Given the description of an element on the screen output the (x, y) to click on. 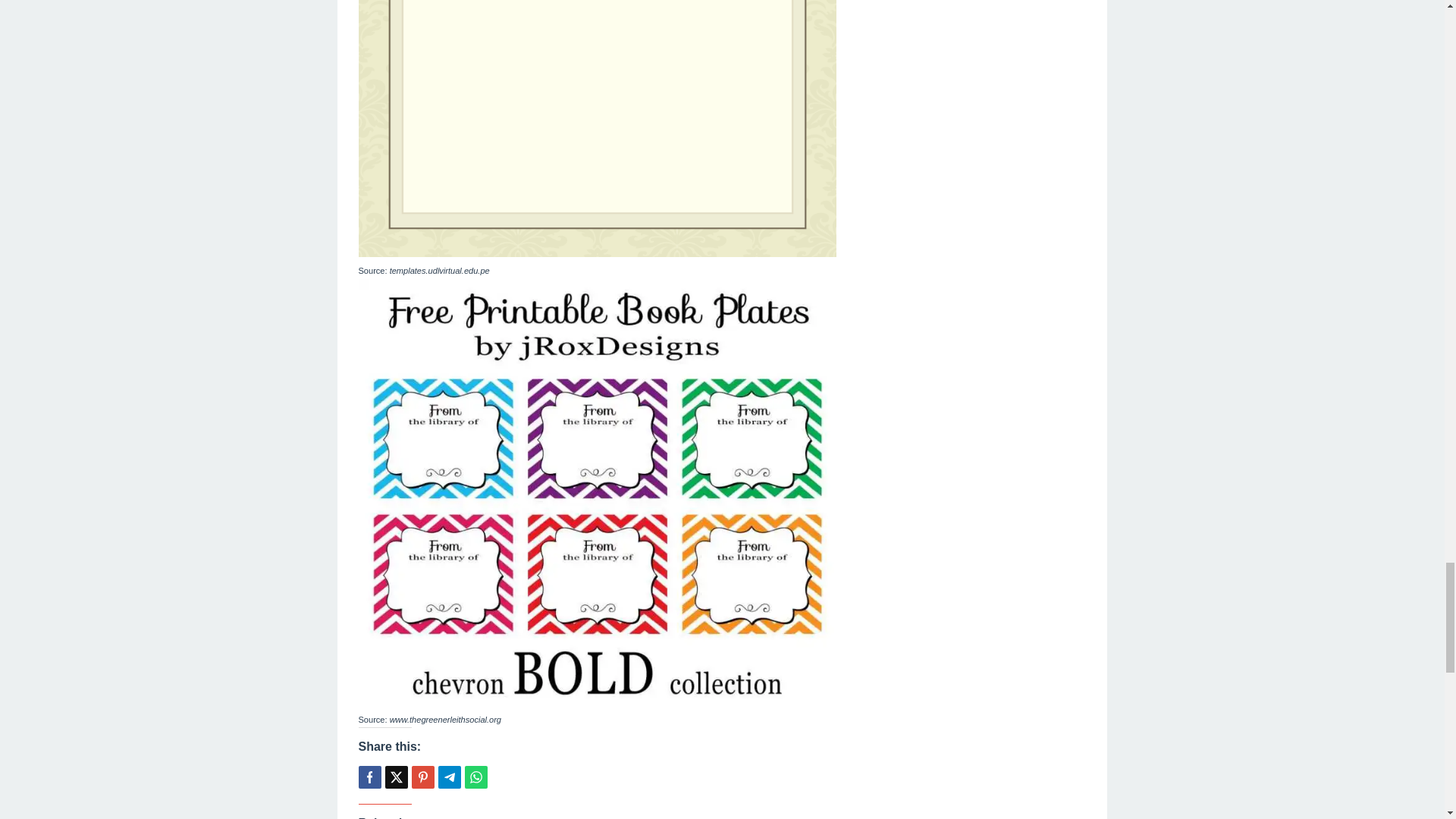
Pin this (421, 776)
Tweet this (396, 776)
Whatsapp (475, 776)
Share this (369, 776)
Telegram Share (449, 776)
